Given the description of an element on the screen output the (x, y) to click on. 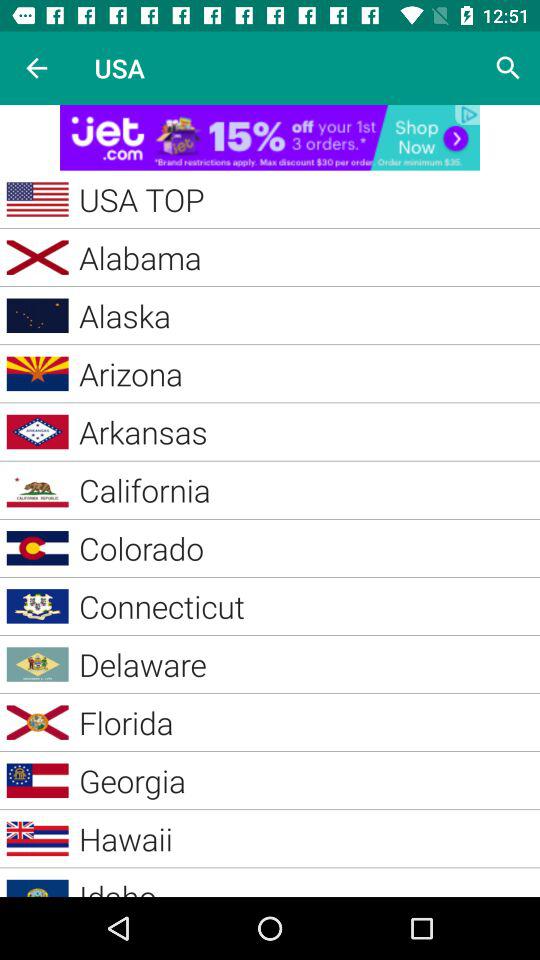
share article (270, 137)
